Given the description of an element on the screen output the (x, y) to click on. 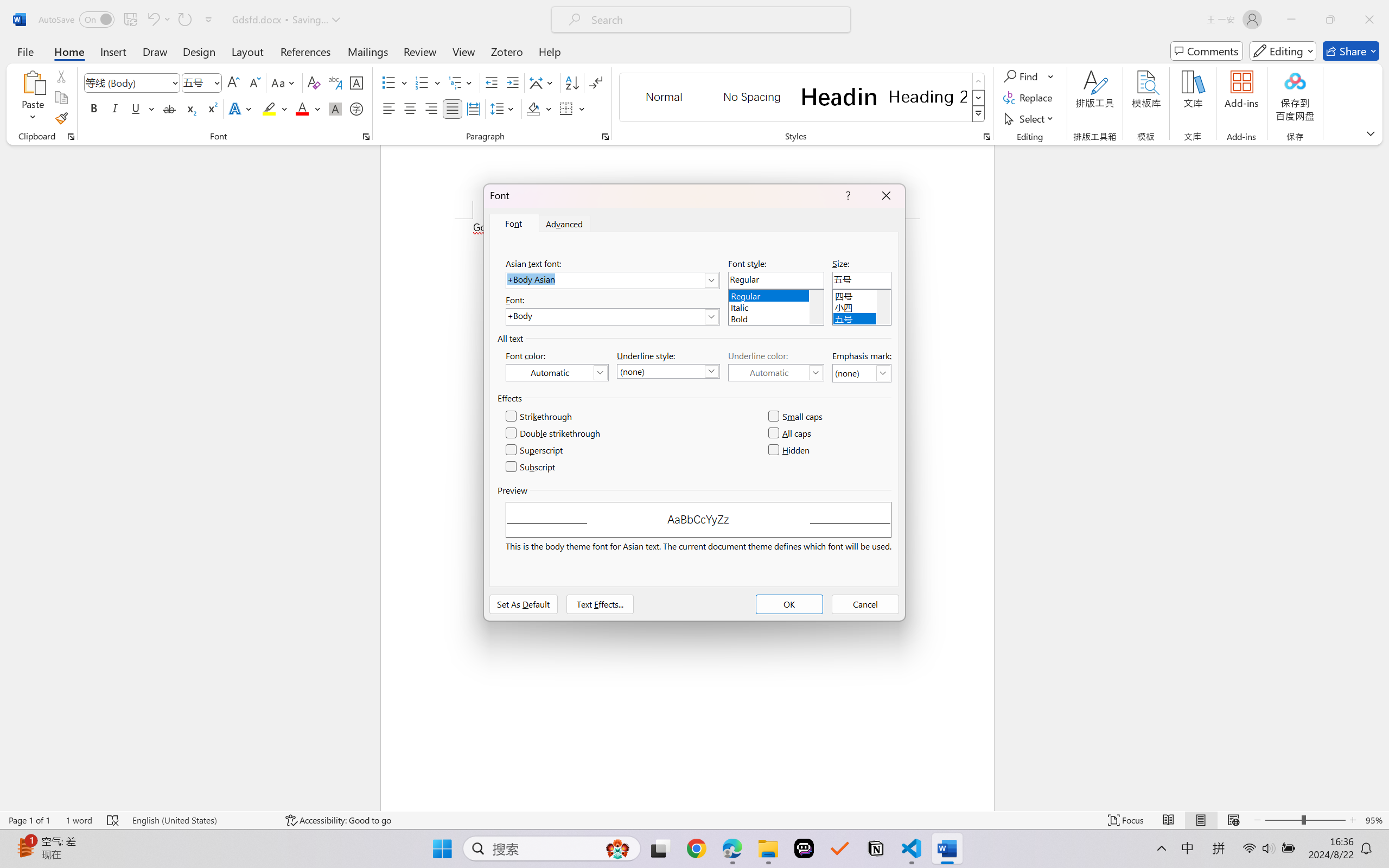
Class: NetUIScrollBar (1382, 477)
Size: (861, 280)
Increase Indent (512, 82)
Phonetic Guide... (334, 82)
Underline style: (667, 370)
Styles (978, 113)
Select (1030, 118)
Zoom 95% (1374, 819)
Office Clipboard... (70, 136)
